Given the description of an element on the screen output the (x, y) to click on. 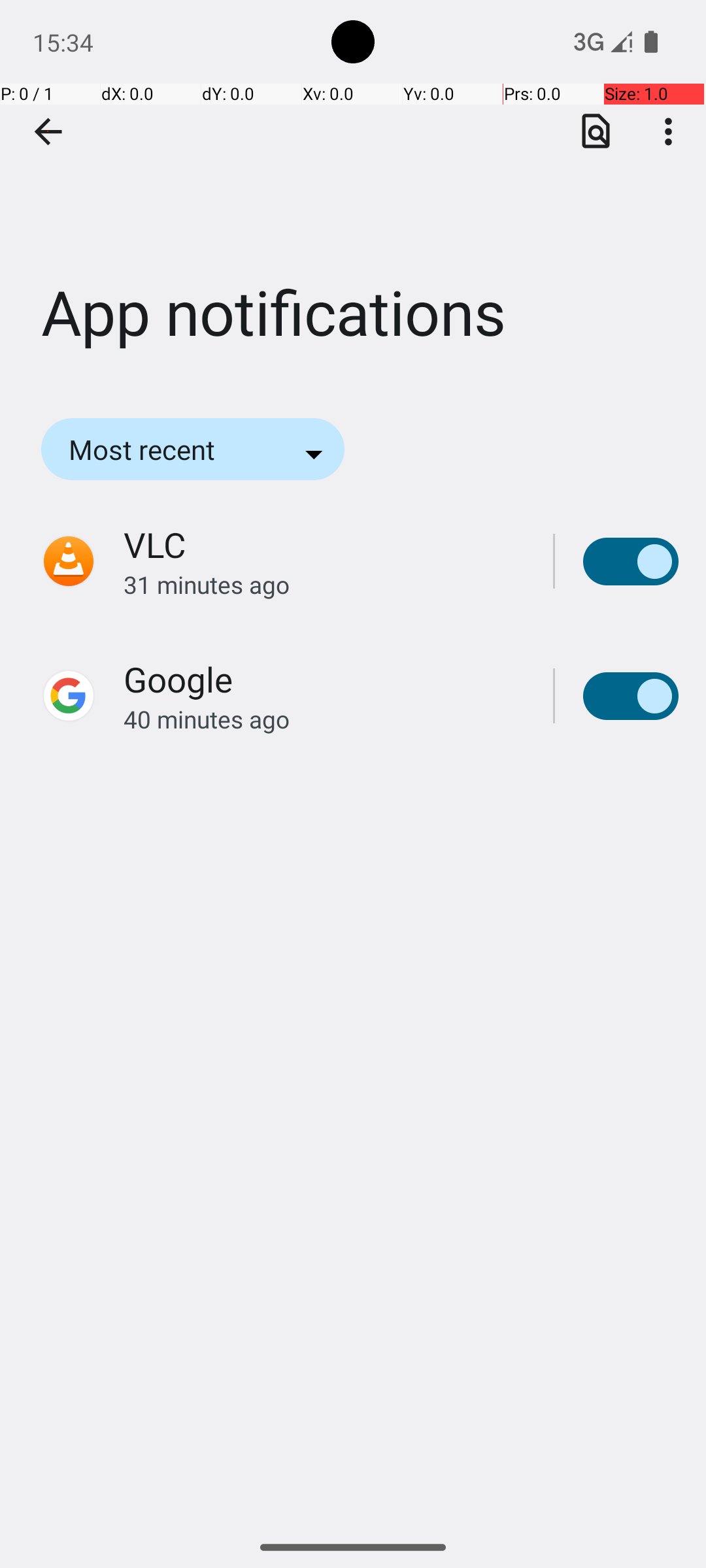
31 minutes ago Element type: android.widget.TextView (324, 584)
40 minutes ago Element type: android.widget.TextView (324, 718)
